Given the description of an element on the screen output the (x, y) to click on. 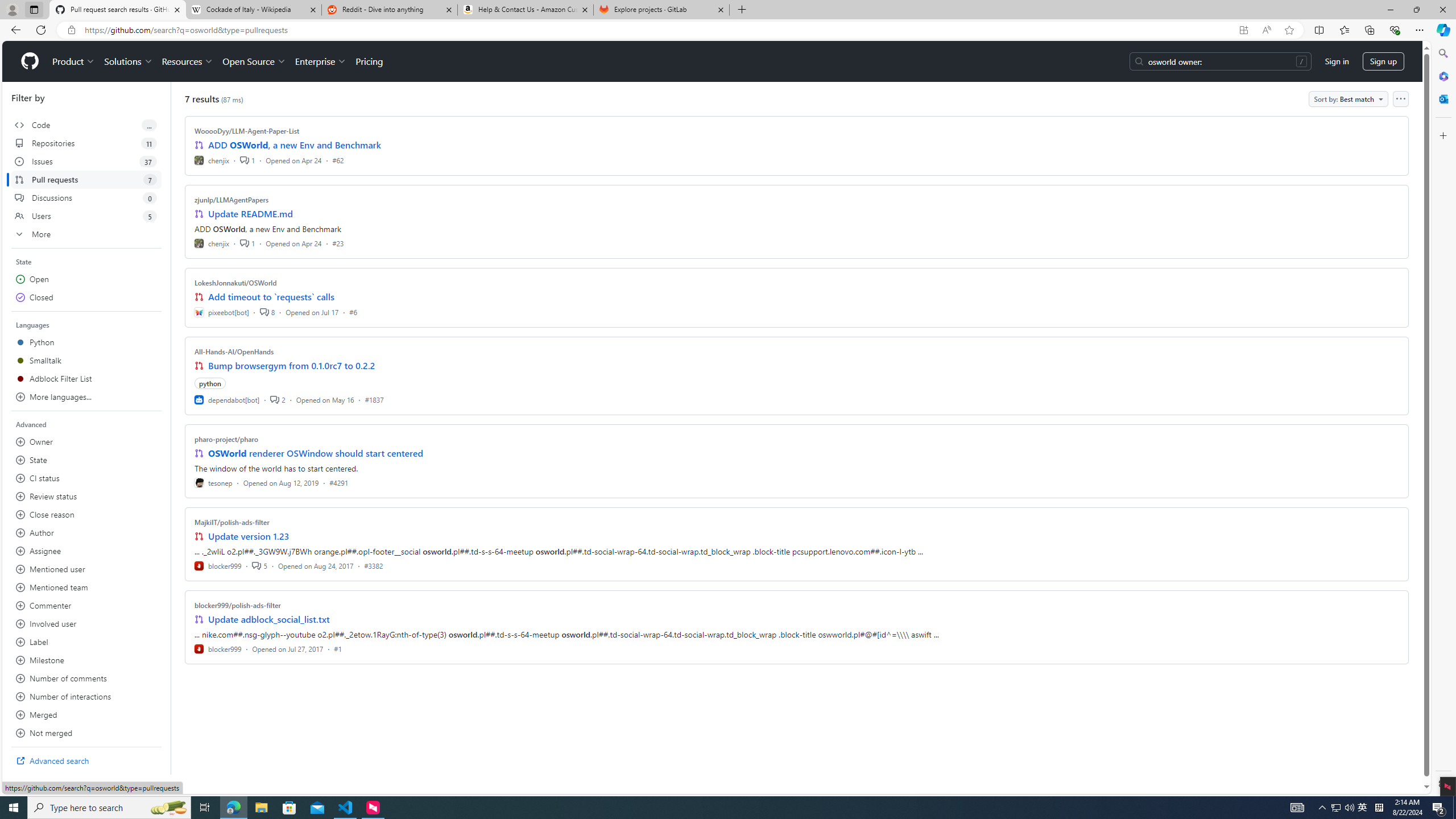
Update version 1.23 (248, 535)
#4291 (338, 482)
pharo-project/pharo (226, 438)
LokeshJonnakuti/OSWorld (235, 282)
Advanced search (86, 760)
